Given the description of an element on the screen output the (x, y) to click on. 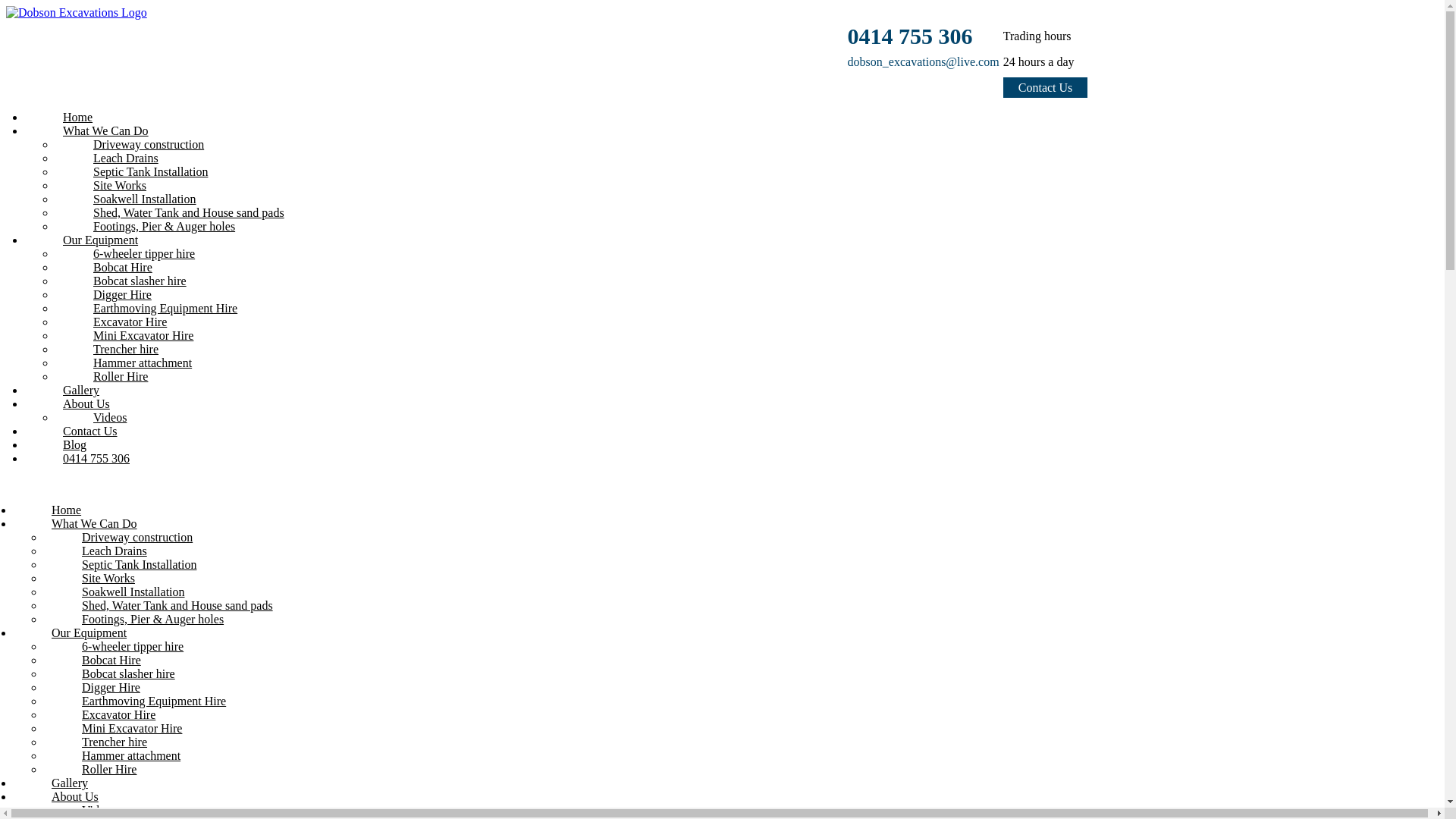
Digger Hire Element type: text (104, 679)
Driveway construction Element type: text (131, 529)
Home Element type: text (60, 502)
Digger Hire Element type: text (116, 287)
Trencher hire Element type: text (108, 734)
Contact Us Element type: text (84, 423)
Contact Us Element type: text (1045, 87)
Bobcat slasher hire Element type: text (122, 666)
Driveway construction Element type: text (142, 136)
Leach Drains Element type: text (108, 543)
Gallery Element type: text (75, 382)
Blog Element type: text (68, 437)
Earthmoving Equipment Hire Element type: text (147, 693)
Bobcat slasher hire Element type: text (134, 273)
6-wheeler tipper hire Element type: text (126, 638)
What We Can Do Element type: text (100, 123)
Site Works Element type: text (102, 570)
Trencher hire Element type: text (120, 341)
Hammer attachment Element type: text (125, 748)
Roller Hire Element type: text (114, 368)
Bobcat Hire Element type: text (105, 652)
Mini Excavator Hire Element type: text (137, 327)
Shed, Water Tank and House sand pads Element type: text (182, 205)
Septic Tank Installation Element type: text (132, 556)
Soakwell Installation Element type: text (138, 191)
Videos Element type: text (92, 802)
6-wheeler tipper hire Element type: text (138, 246)
About Us Element type: text (69, 789)
Our Equipment Element type: text (83, 625)
Shed, Water Tank and House sand pads Element type: text (171, 597)
About Us Element type: text (80, 396)
Earthmoving Equipment Hire Element type: text (159, 300)
Home Element type: text (72, 109)
Our Equipment Element type: text (94, 232)
Mini Excavator Hire Element type: text (125, 720)
Dobson Excavations Element type: hover (76, 12)
0414 755 306 Element type: text (909, 35)
Videos Element type: text (104, 409)
Excavator Hire Element type: text (124, 314)
Footings, Pier & Auger holes Element type: text (146, 611)
Hammer attachment Element type: text (136, 355)
Bobcat Hire Element type: text (116, 259)
0414 755 306 Element type: text (90, 450)
Gallery Element type: text (63, 775)
Footings, Pier & Auger holes Element type: text (158, 218)
dobson_excavations@live.com  Element type: text (924, 61)
Excavator Hire Element type: text (112, 707)
Soakwell Installation Element type: text (127, 584)
Leach Drains Element type: text (120, 150)
Site Works Element type: text (113, 177)
Roller Hire Element type: text (103, 761)
What We Can Do Element type: text (88, 516)
Septic Tank Installation Element type: text (144, 164)
